Given the description of an element on the screen output the (x, y) to click on. 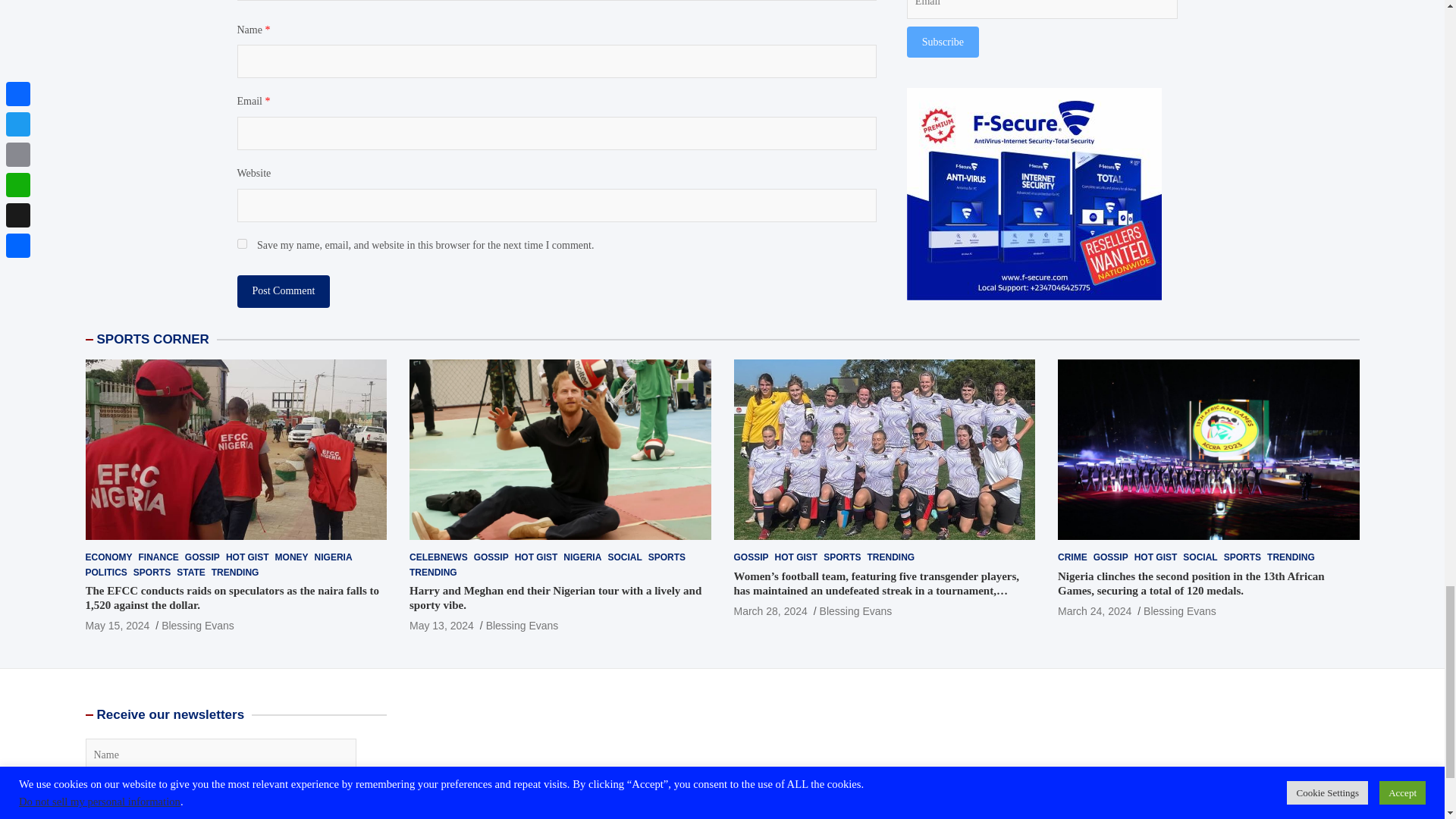
SPORTS CORNER (153, 339)
GOSSIP (201, 557)
Post Comment (282, 291)
yes (240, 243)
ECONOMY (108, 557)
Post Comment (282, 291)
FINANCE (158, 557)
